Given the description of an element on the screen output the (x, y) to click on. 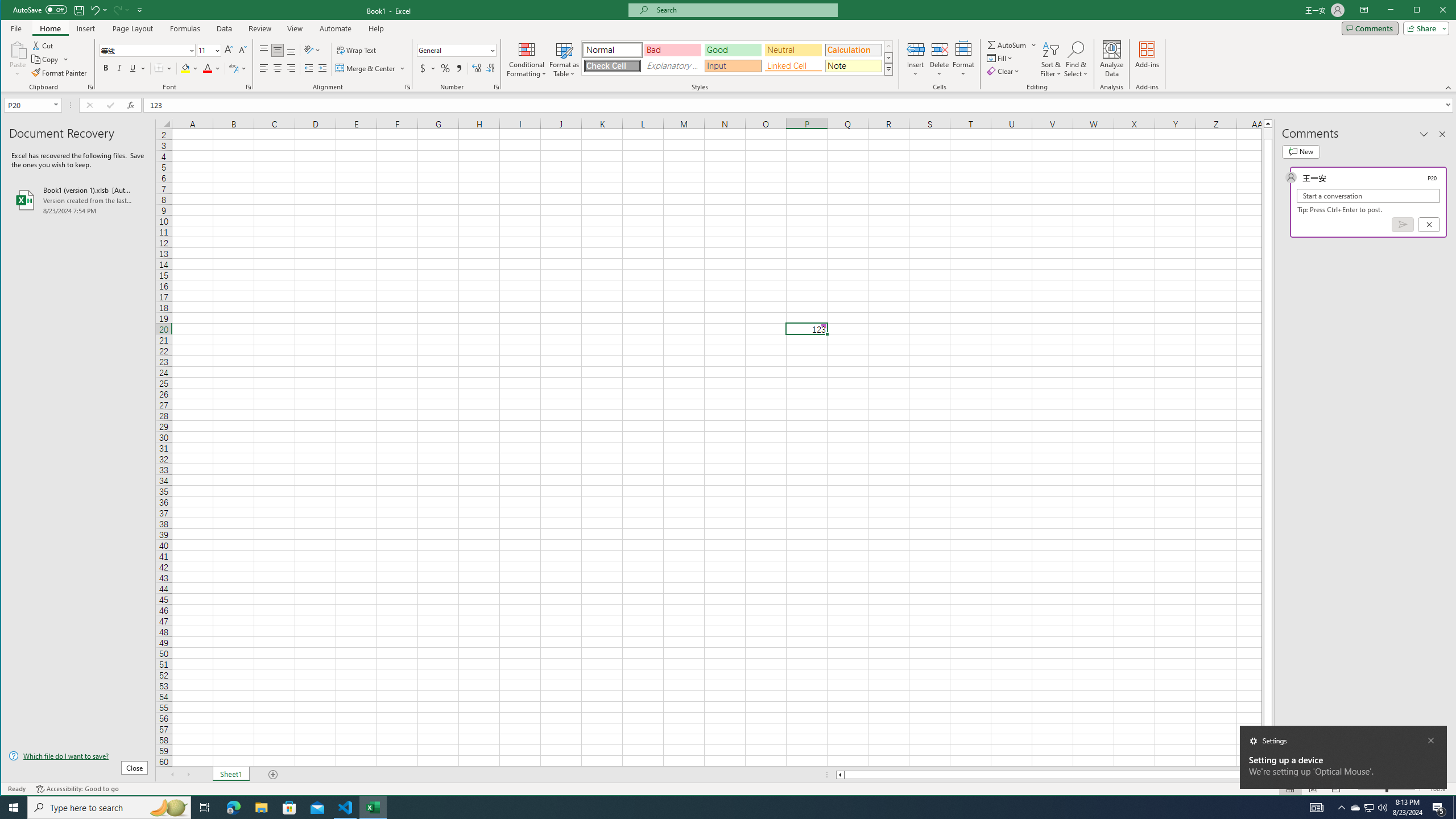
Class: NetUIScrollBar (1048, 774)
Zoom In (1420, 788)
3D Map (481, 48)
Column (540, 59)
Notification Chevron (1341, 807)
Microsoft search (742, 10)
AutoSave (39, 9)
Formulas (184, 28)
Line up (1267, 122)
Signature Line (821, 48)
Icons (183, 59)
